Given the description of an element on the screen output the (x, y) to click on. 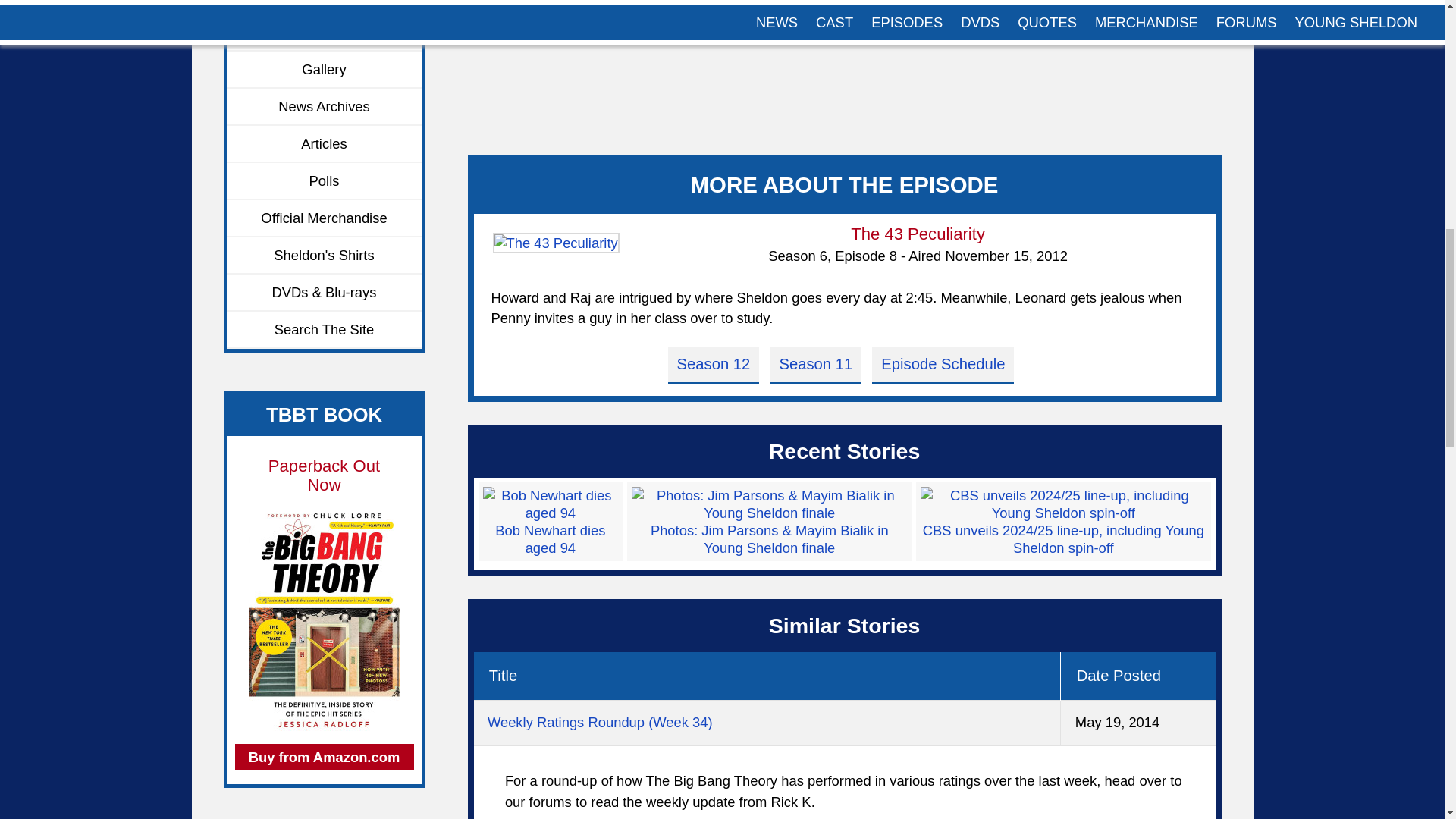
Buy from Amazon.com (323, 756)
Official Merchandise (324, 218)
TBBT BOOK (323, 414)
Articles (324, 144)
Gallery (324, 69)
News Archives (324, 107)
Young Sheldon (324, 32)
Crew (324, 7)
Polls (324, 180)
Search The Site (324, 330)
Sheldon's Shirts (324, 255)
